Given the description of an element on the screen output the (x, y) to click on. 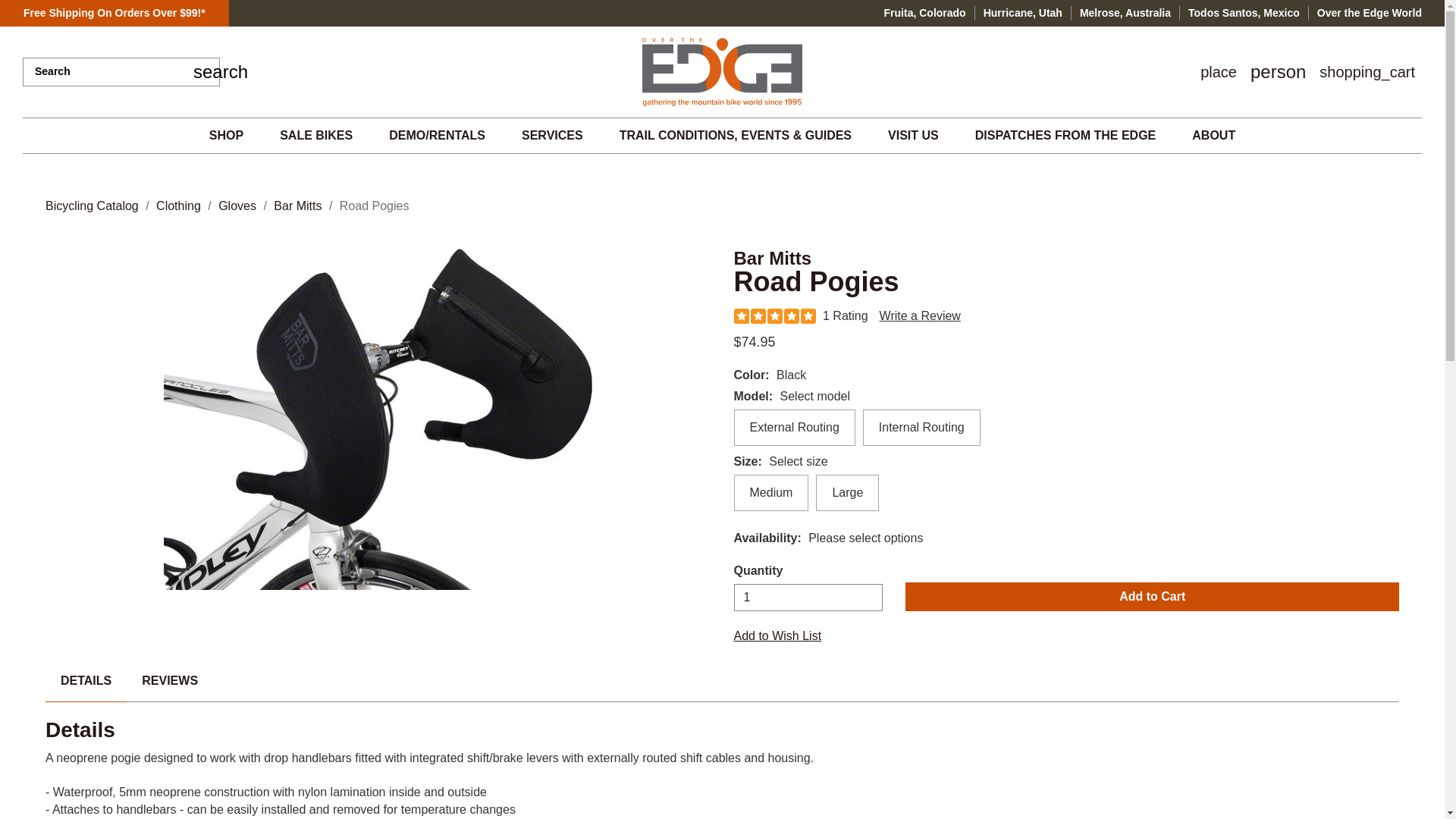
Fruita, Colorado (929, 13)
Store (1218, 71)
All OTE Locations (114, 13)
Account (1278, 71)
Melrose, Australia (1129, 13)
Over the Edge World (1369, 13)
SHOP (226, 135)
1 (808, 596)
Todos Santos, Mexico (1248, 13)
Search (207, 71)
Cart (1367, 71)
Hurricane, Utah (1027, 13)
Account (1278, 71)
Cart (1367, 71)
